Given the description of an element on the screen output the (x, y) to click on. 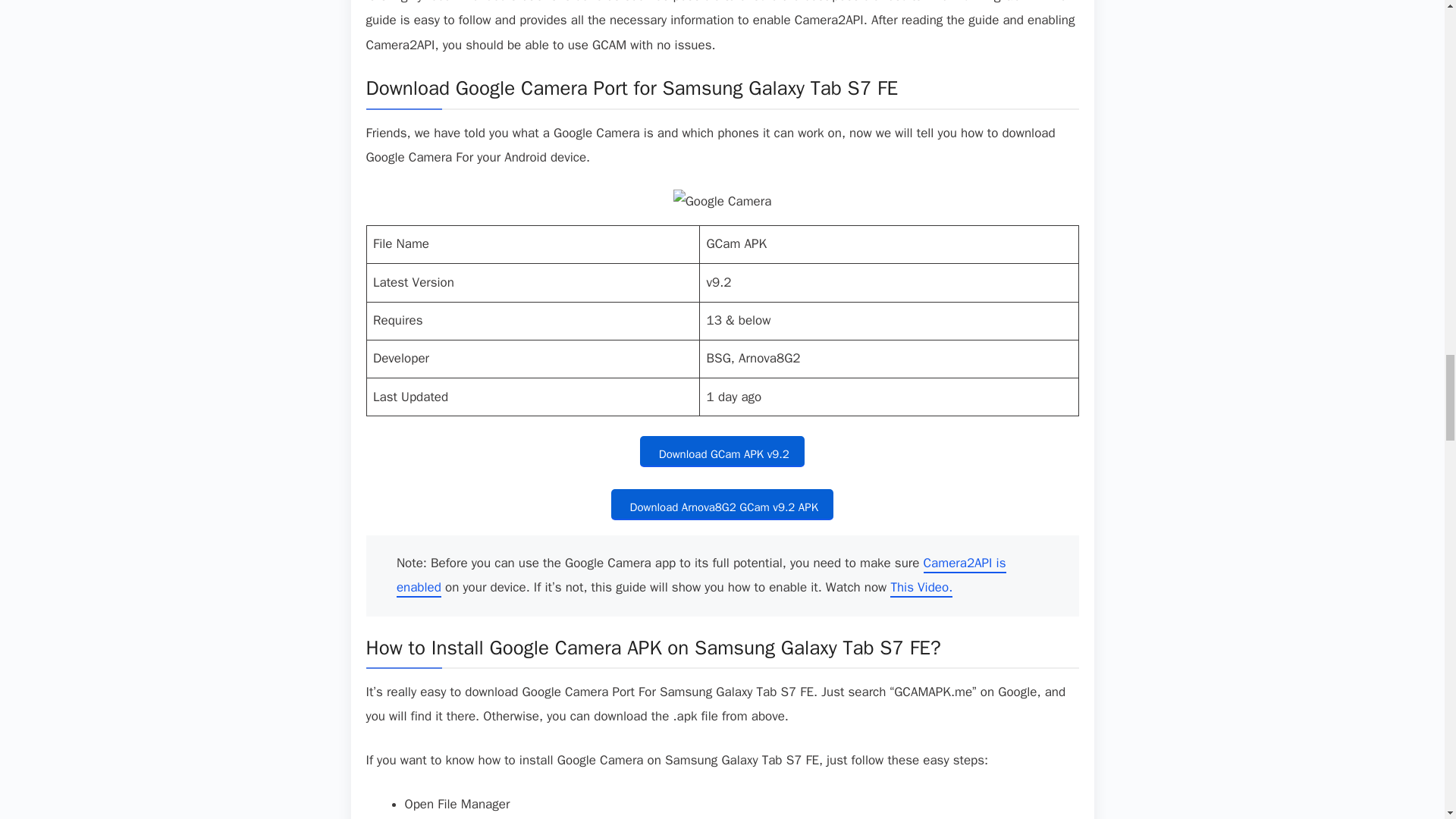
Camera2API is enabled (701, 576)
 Download Arnova8G2 GCam v9.2 APK (721, 504)
 Download GCam APK v9.2 (721, 450)
